Given the description of an element on the screen output the (x, y) to click on. 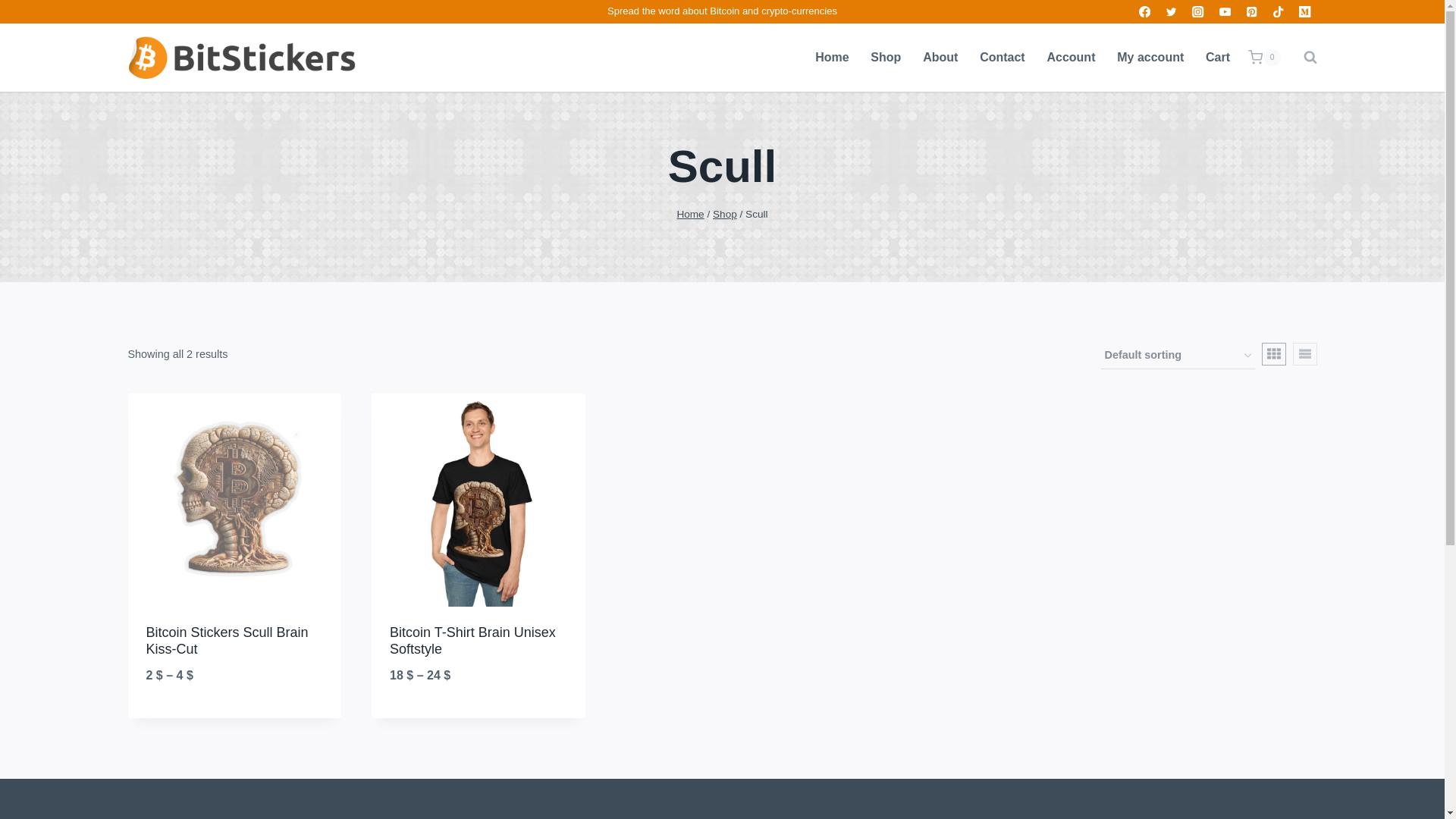
Shop (886, 57)
Home (832, 57)
Bitcoin T-Shirt Brain Unisex Softstyle (473, 640)
0 (1263, 57)
About (940, 57)
Bitcoin Stickers Scull Brain Kiss-Cut (226, 640)
List View (1304, 354)
Shop (724, 214)
Contact (1002, 57)
My account (1150, 57)
Home (690, 214)
Account (1070, 57)
Grid View (1273, 354)
Cart (1218, 57)
